Given the description of an element on the screen output the (x, y) to click on. 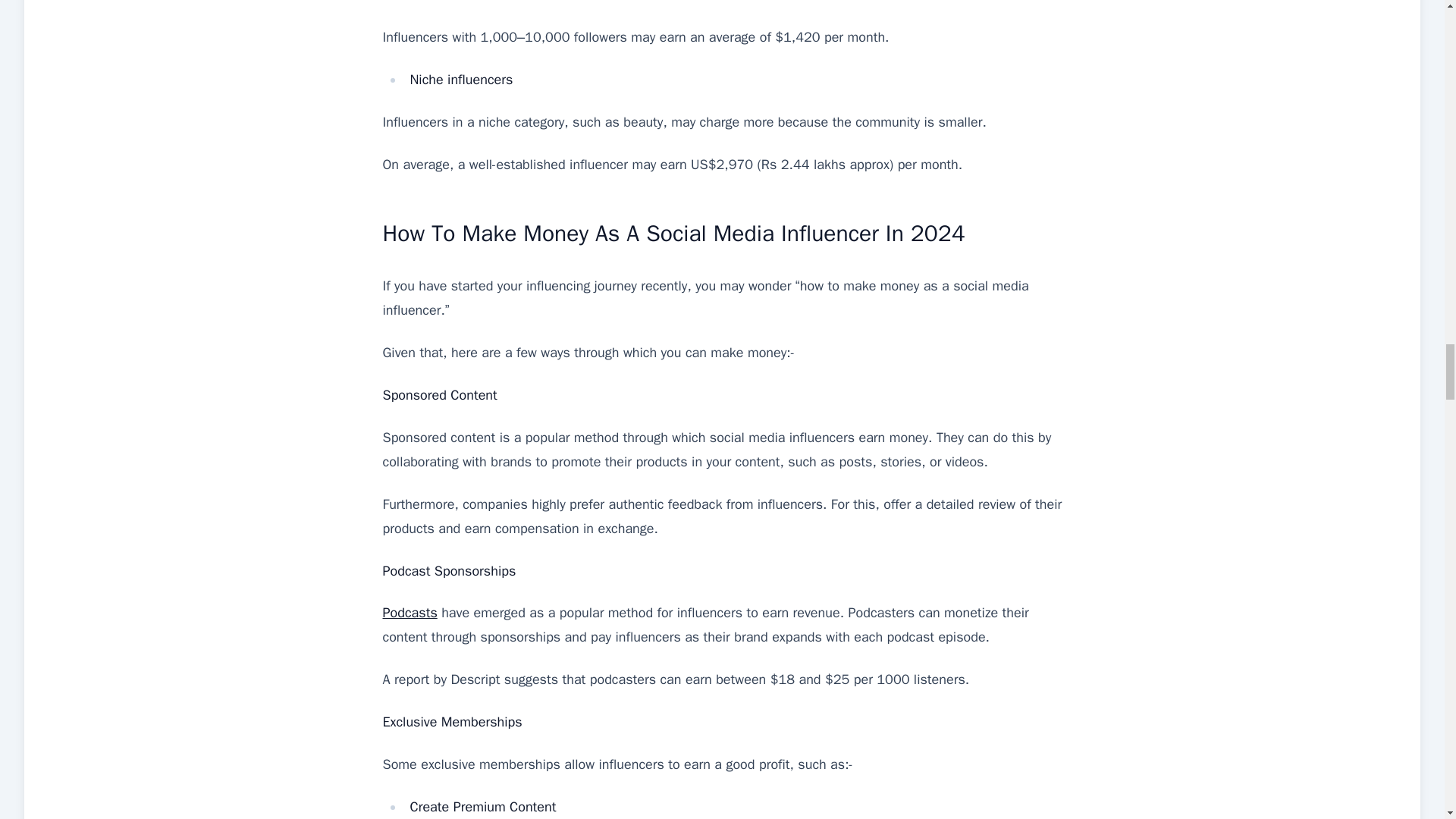
Podcasts (408, 612)
